Given the description of an element on the screen output the (x, y) to click on. 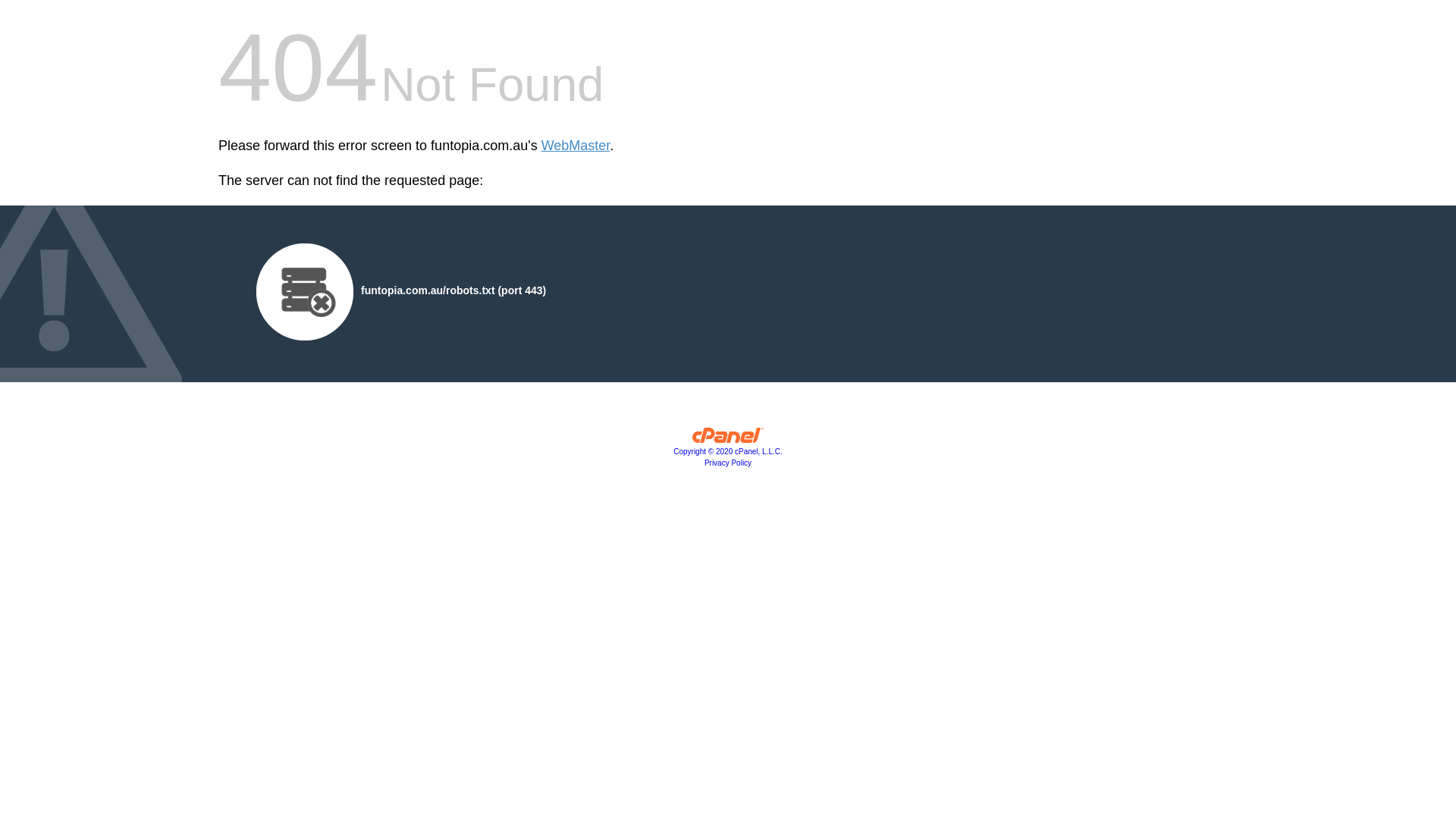
Privacy Policy Element type: text (727, 462)
WebMaster Element type: text (575, 145)
cPanel, Inc. Element type: hover (728, 439)
